Given the description of an element on the screen output the (x, y) to click on. 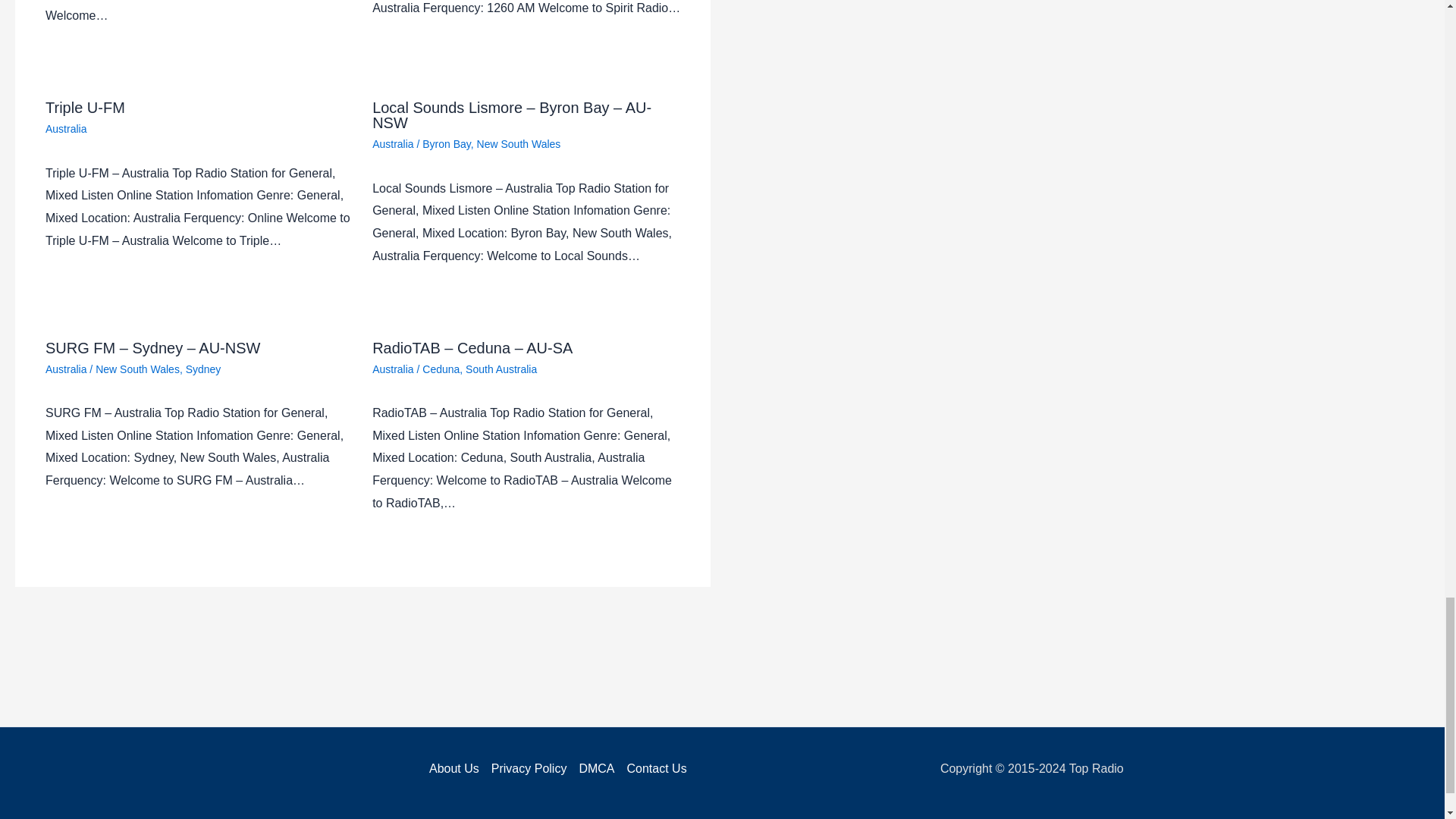
Byron Bay (446, 143)
Triple U-FM (85, 107)
Australia (65, 128)
Australia (392, 143)
